Given the description of an element on the screen output the (x, y) to click on. 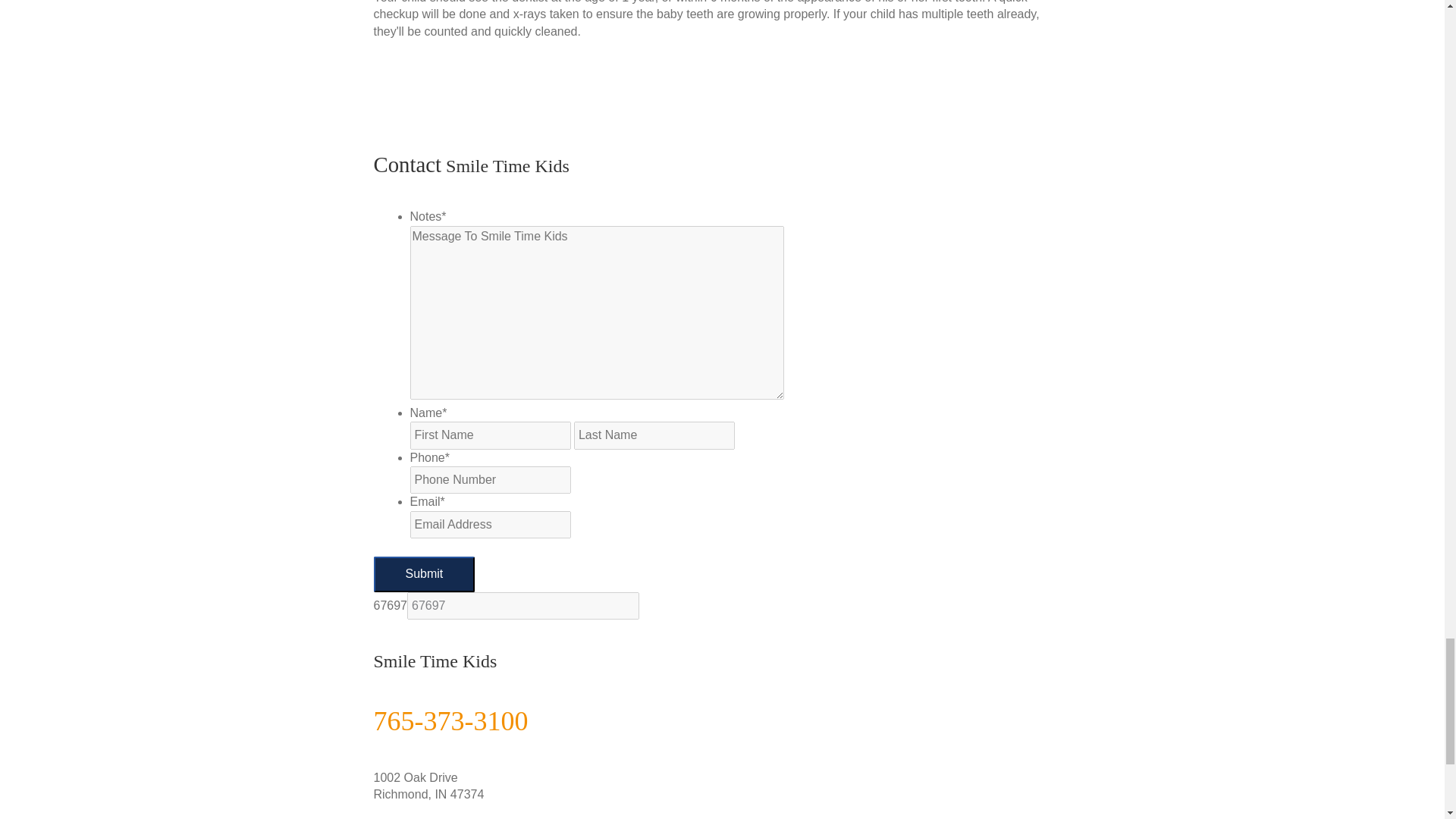
765-373-3100 (449, 720)
67697 (523, 605)
Submit (423, 573)
